Given the description of an element on the screen output the (x, y) to click on. 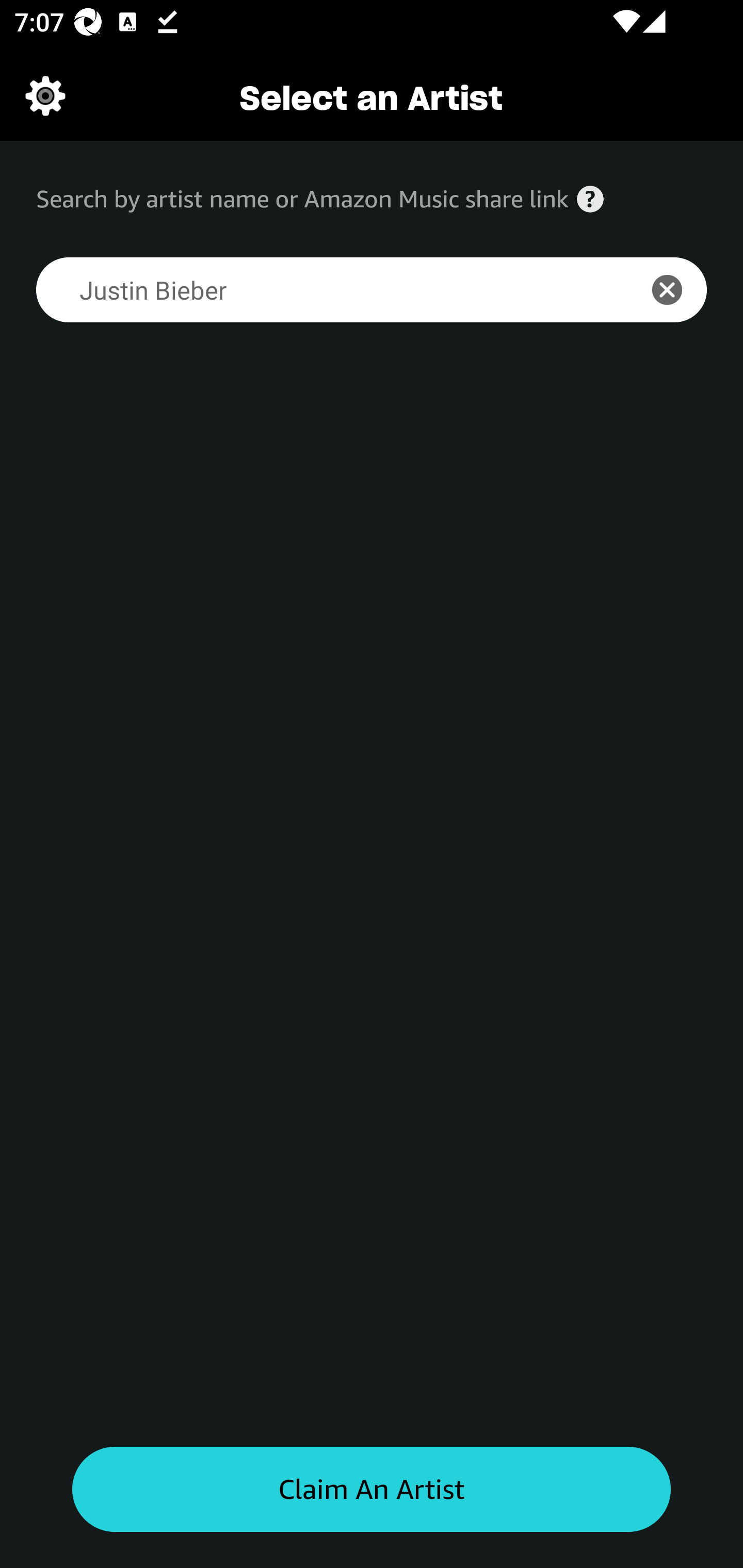
Help  icon (589, 199)
Justin Bieber Search for an artist search bar (324, 290)
 icon (677, 290)
Claim an artist button Claim An Artist (371, 1489)
